Given the description of an element on the screen output the (x, y) to click on. 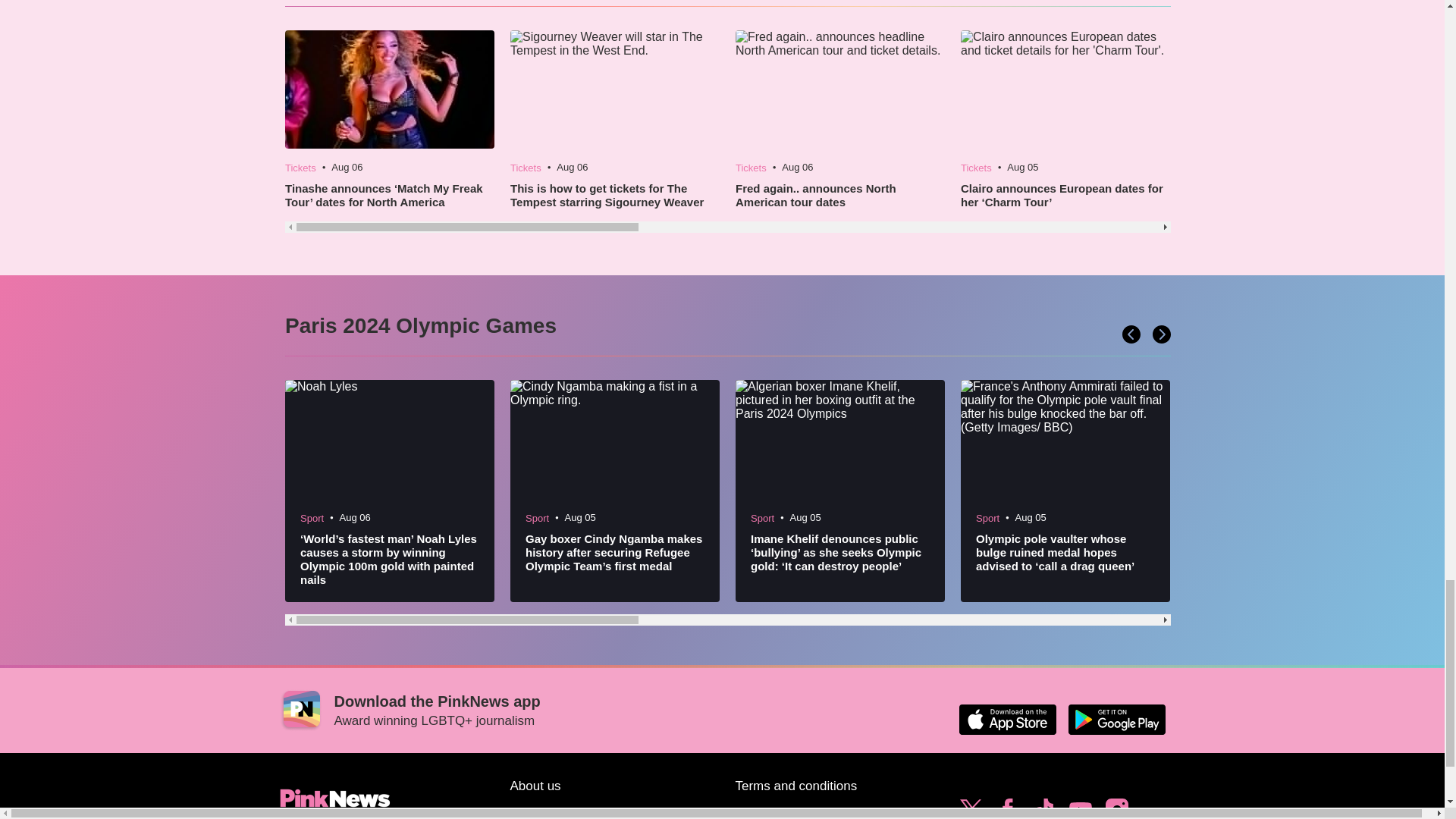
Download the PinkNews app on the Apple App Store (1006, 719)
Follow PinkNews on Instagram (1116, 807)
Subscribe to PinkNews on YouTube (1079, 807)
Follow PinkNews on Facebook (1007, 807)
Follow PinkNews on Twitter (970, 807)
Follow PinkNews on TikTok (1042, 807)
Download the PinkNews app on Google Play (1115, 719)
